Given the description of an element on the screen output the (x, y) to click on. 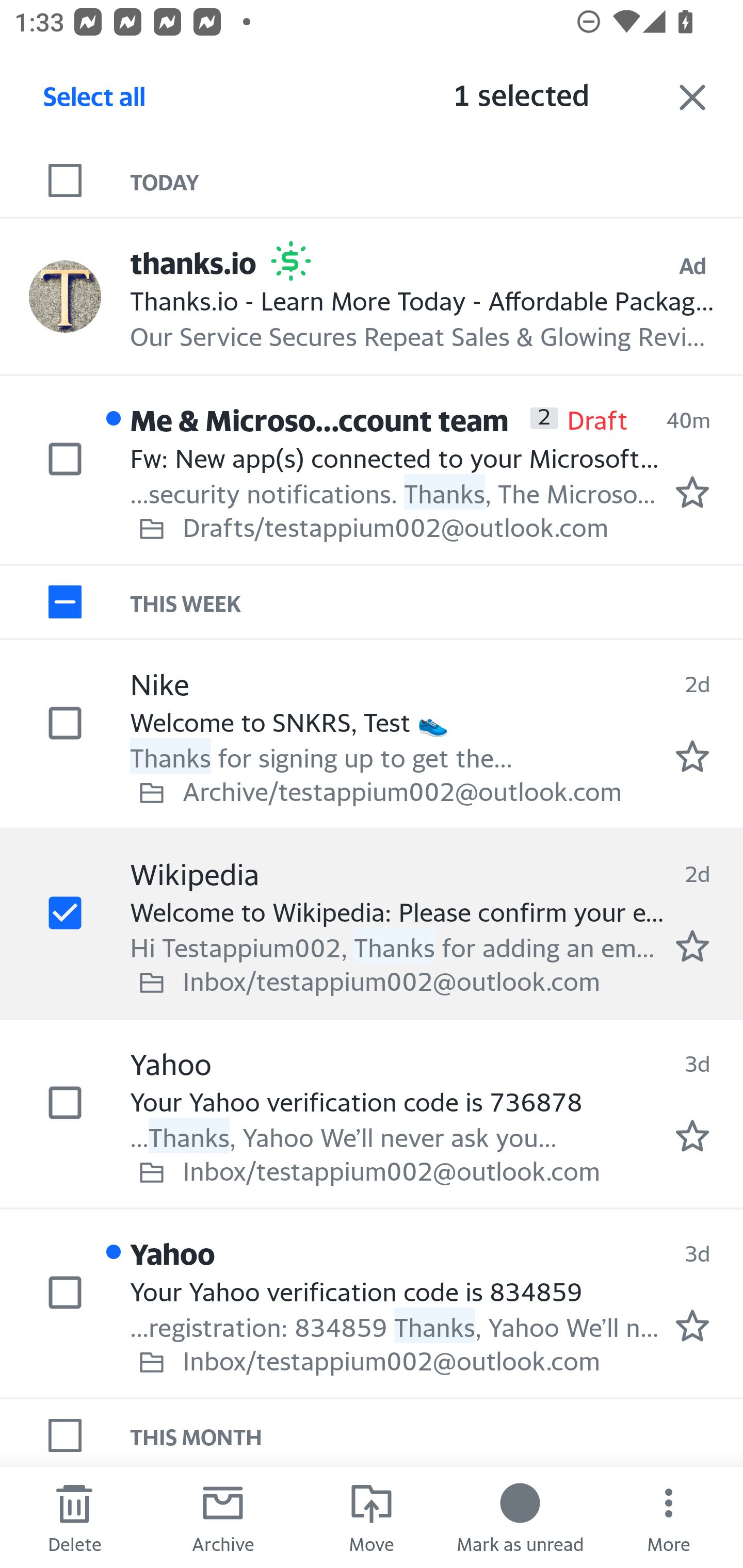
Exit selection mode (692, 97)
Select all (94, 101)
TODAY (436, 180)
Sponsored (290, 260)
Ad (692, 265)
Mark as starred. (692, 491)
THIS WEEK (436, 601)
Mark as starred. (692, 756)
Mark as starred. (692, 946)
Mark as starred. (692, 1135)
Mark as starred. (692, 1325)
THIS MONTH (436, 1435)
Delete (74, 1517)
Archive (222, 1517)
Move (371, 1517)
Mark as unread (519, 1517)
More (668, 1517)
